Given the description of an element on the screen output the (x, y) to click on. 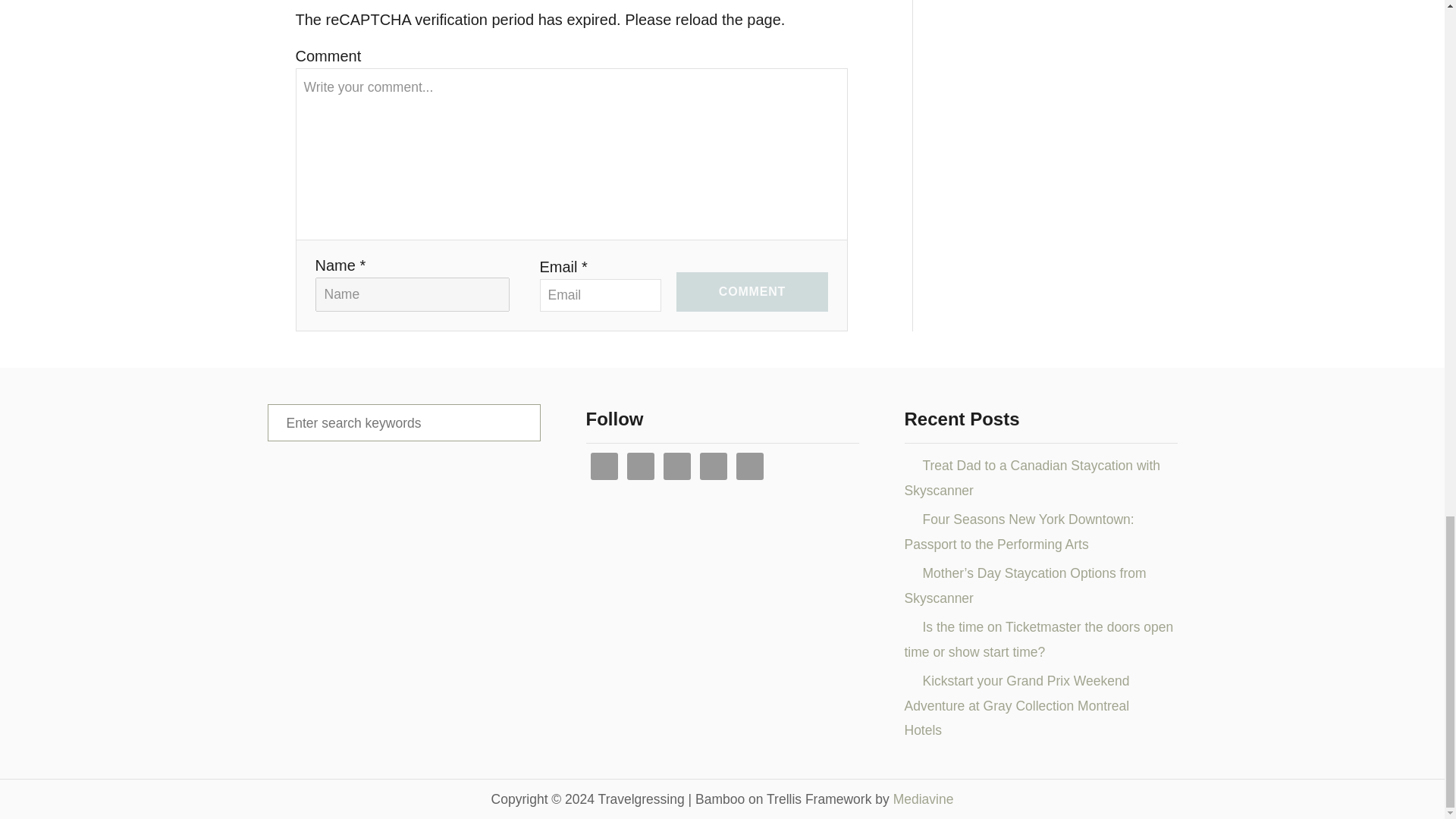
Search for: (403, 422)
